Given the description of an element on the screen output the (x, y) to click on. 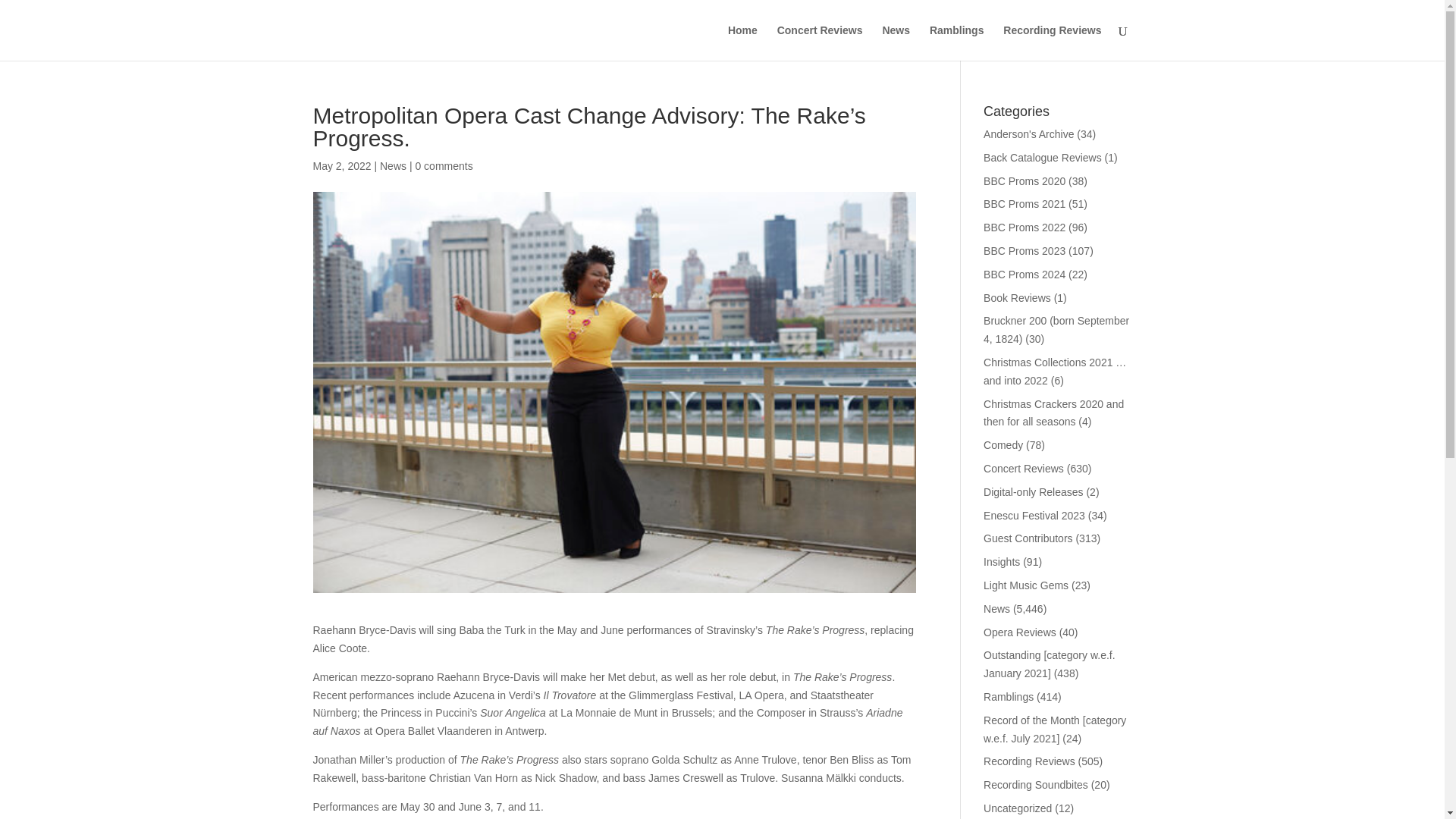
Book Reviews (1017, 297)
Guest Contributors (1028, 538)
Christmas Crackers 2020 and then for all seasons (1054, 413)
Back Catalogue Reviews (1043, 157)
Ramblings (957, 42)
News (393, 165)
Enescu Festival 2023 (1034, 515)
BBC Proms 2022 (1024, 227)
Opera Reviews (1020, 632)
Concert Reviews (1024, 468)
BBC Proms 2024 (1024, 274)
Ramblings (1008, 696)
BBC Proms 2020 (1024, 181)
Anderson's Archive (1029, 133)
0 comments (442, 165)
